Given the description of an element on the screen output the (x, y) to click on. 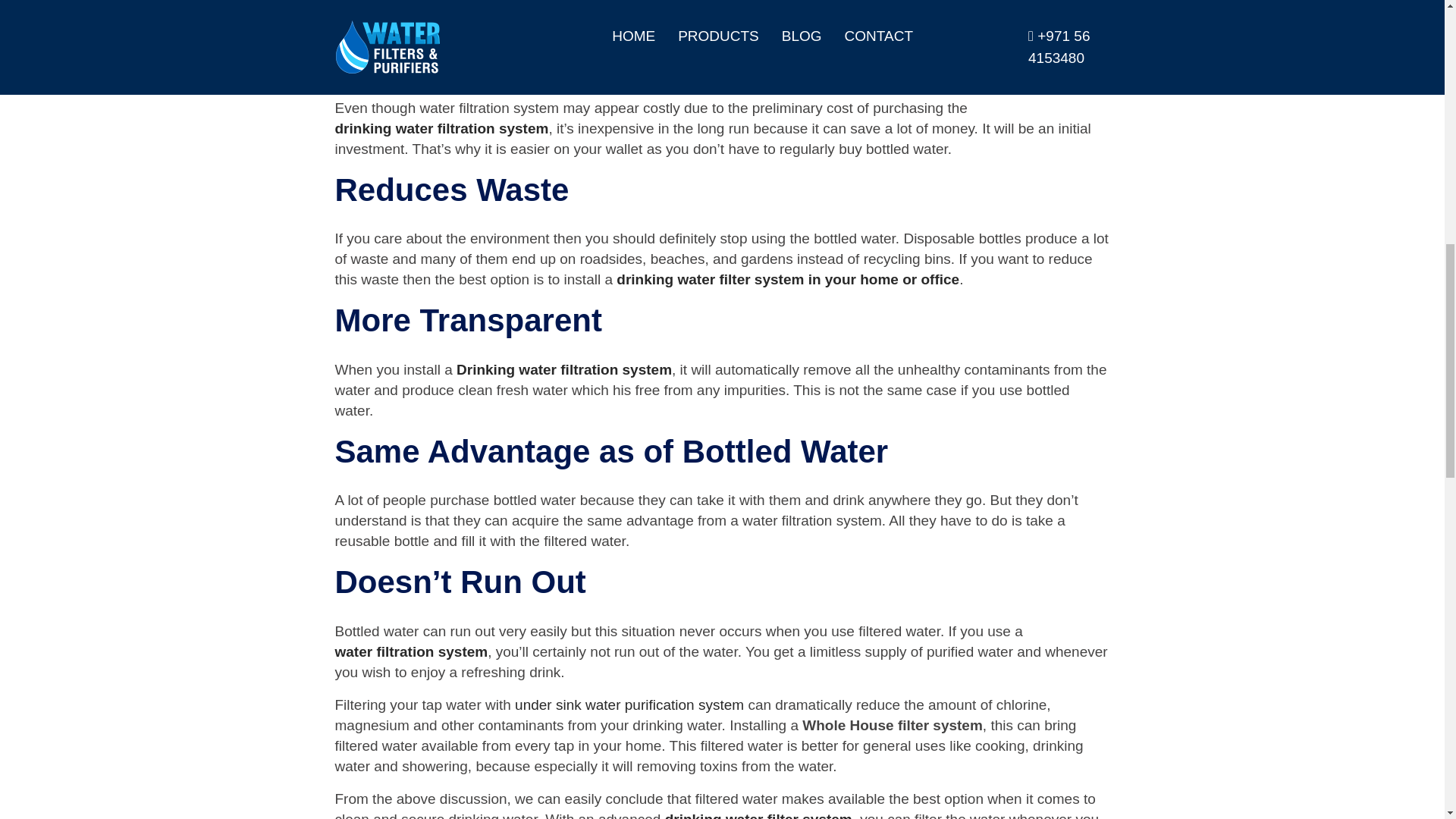
water filtration system (410, 651)
under sink water purification system (629, 704)
drinking water filter system in your home or office (787, 279)
Filtered pure drinking water (429, 4)
drinking water filter system (758, 814)
Drinking water filtration system (564, 369)
drinking water filtration system (441, 127)
